Given the description of an element on the screen output the (x, y) to click on. 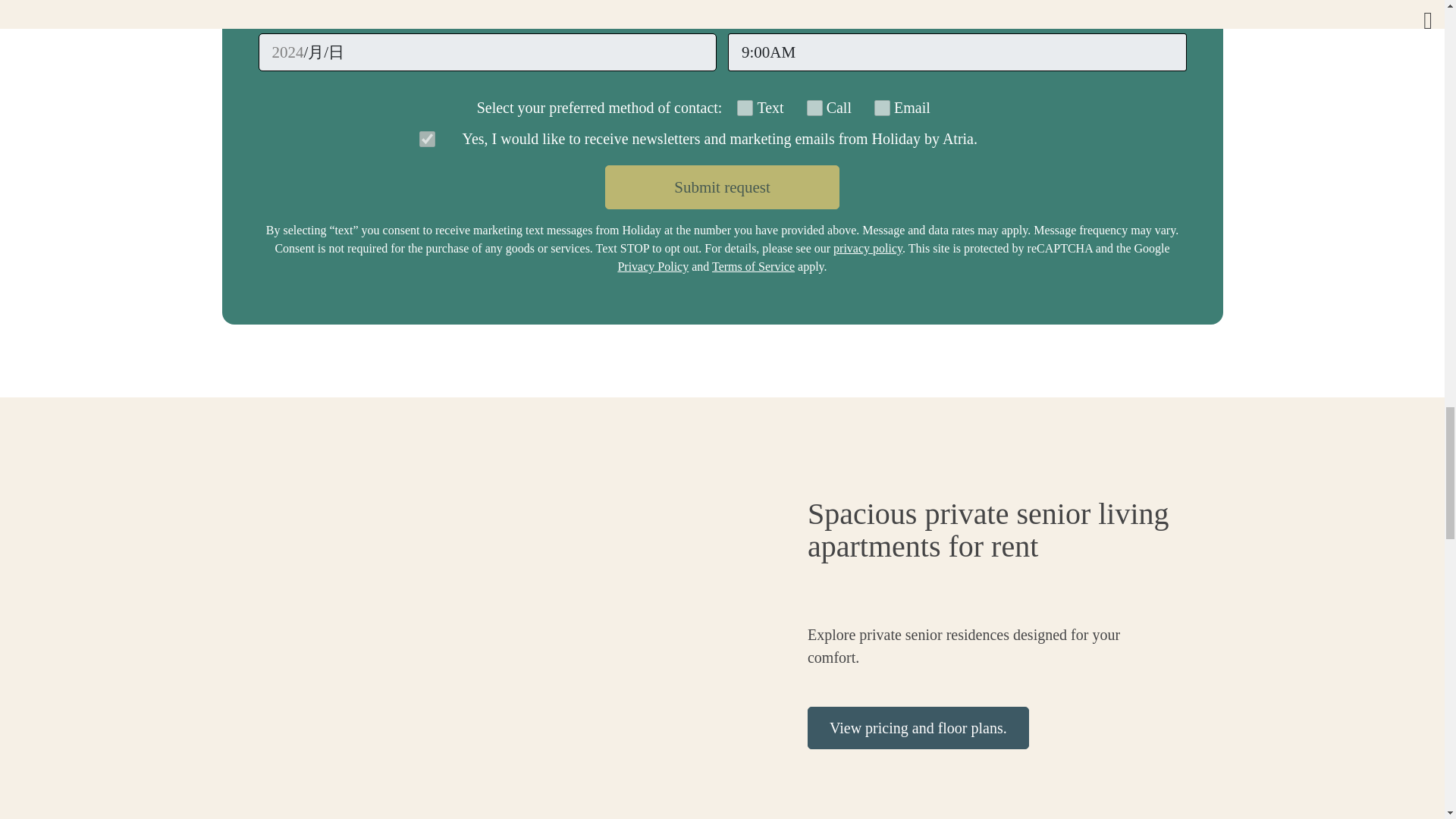
text (744, 107)
call (814, 107)
on (426, 138)
email (882, 107)
Terms of Service (752, 266)
privacy policy (867, 247)
Submit request (722, 187)
Privacy Policy (652, 266)
View pricing and floor plans. (918, 727)
